Given the description of an element on the screen output the (x, y) to click on. 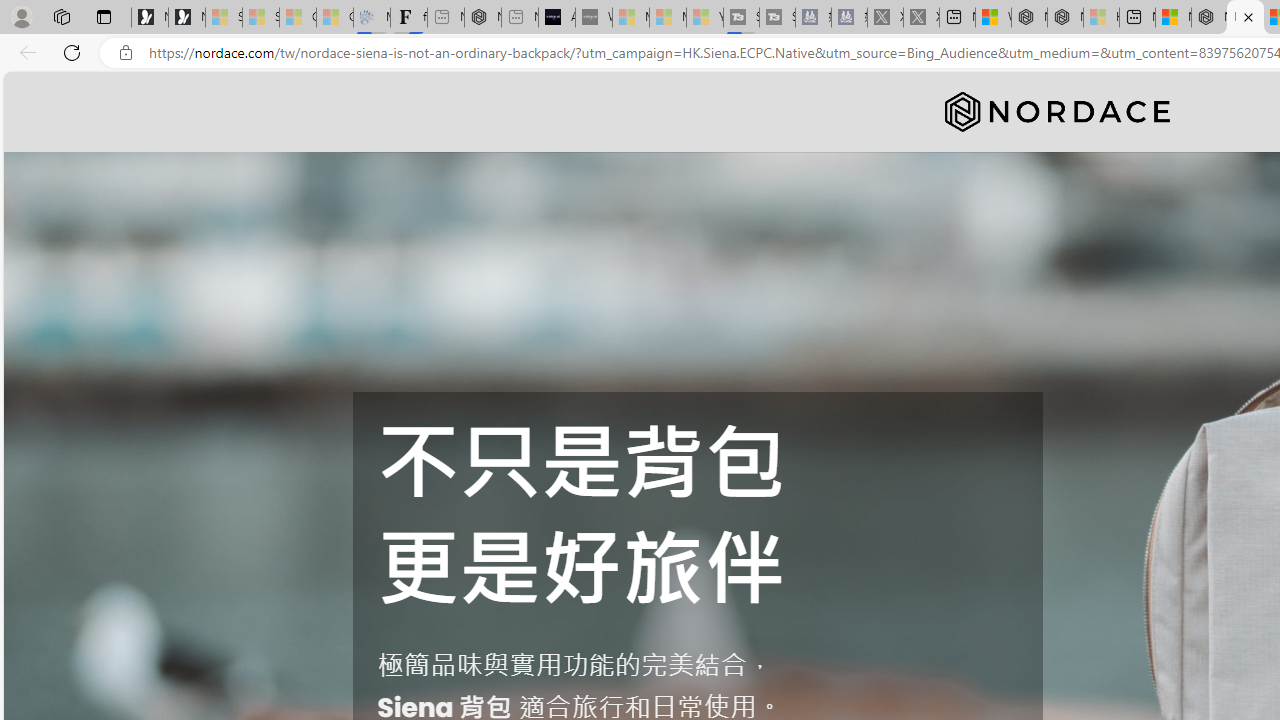
X - Sleeping (921, 17)
Microsoft Start Sports - Sleeping (630, 17)
